Given the description of an element on the screen output the (x, y) to click on. 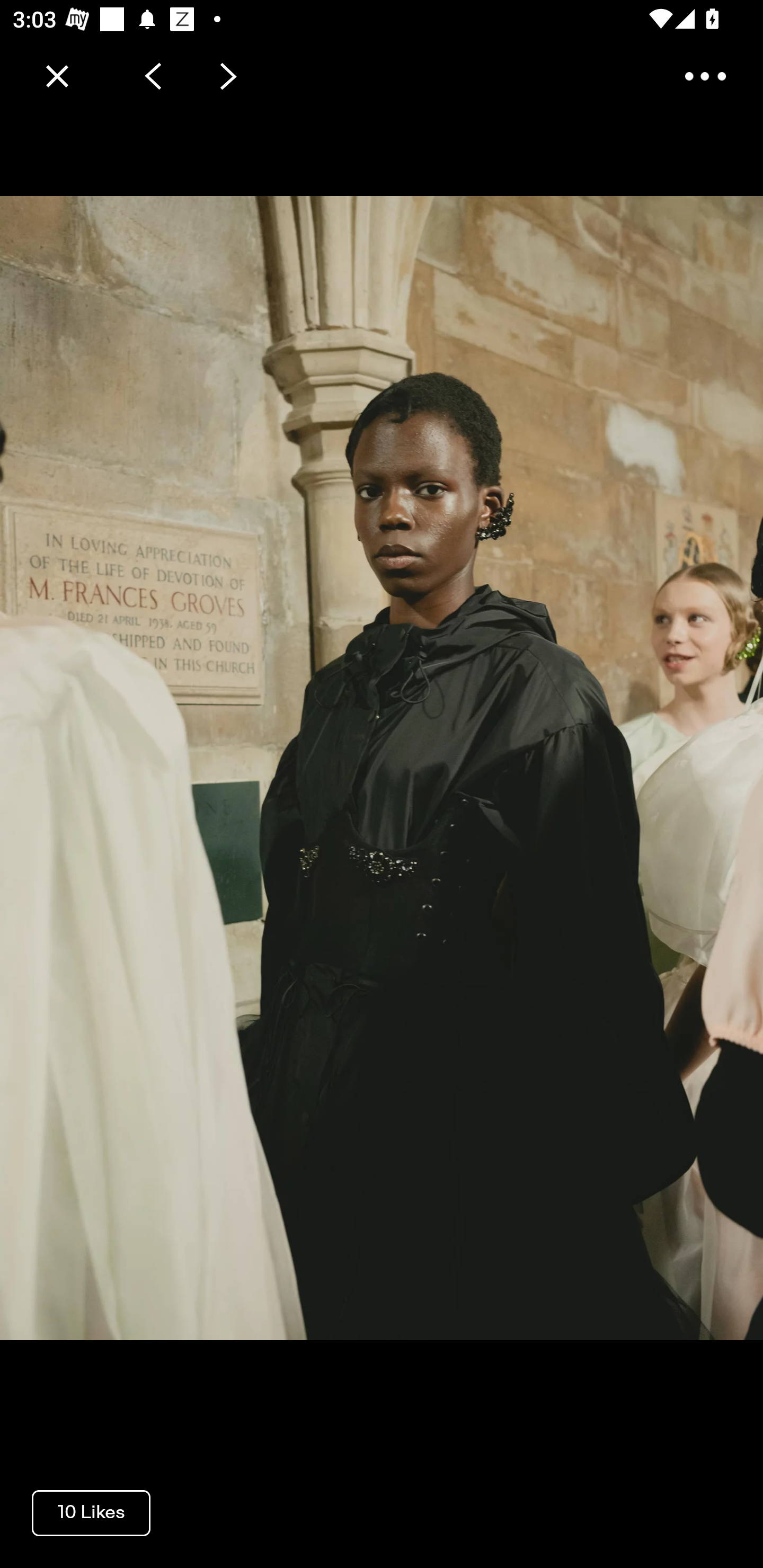
10 Likes (91, 1512)
